Given the description of an element on the screen output the (x, y) to click on. 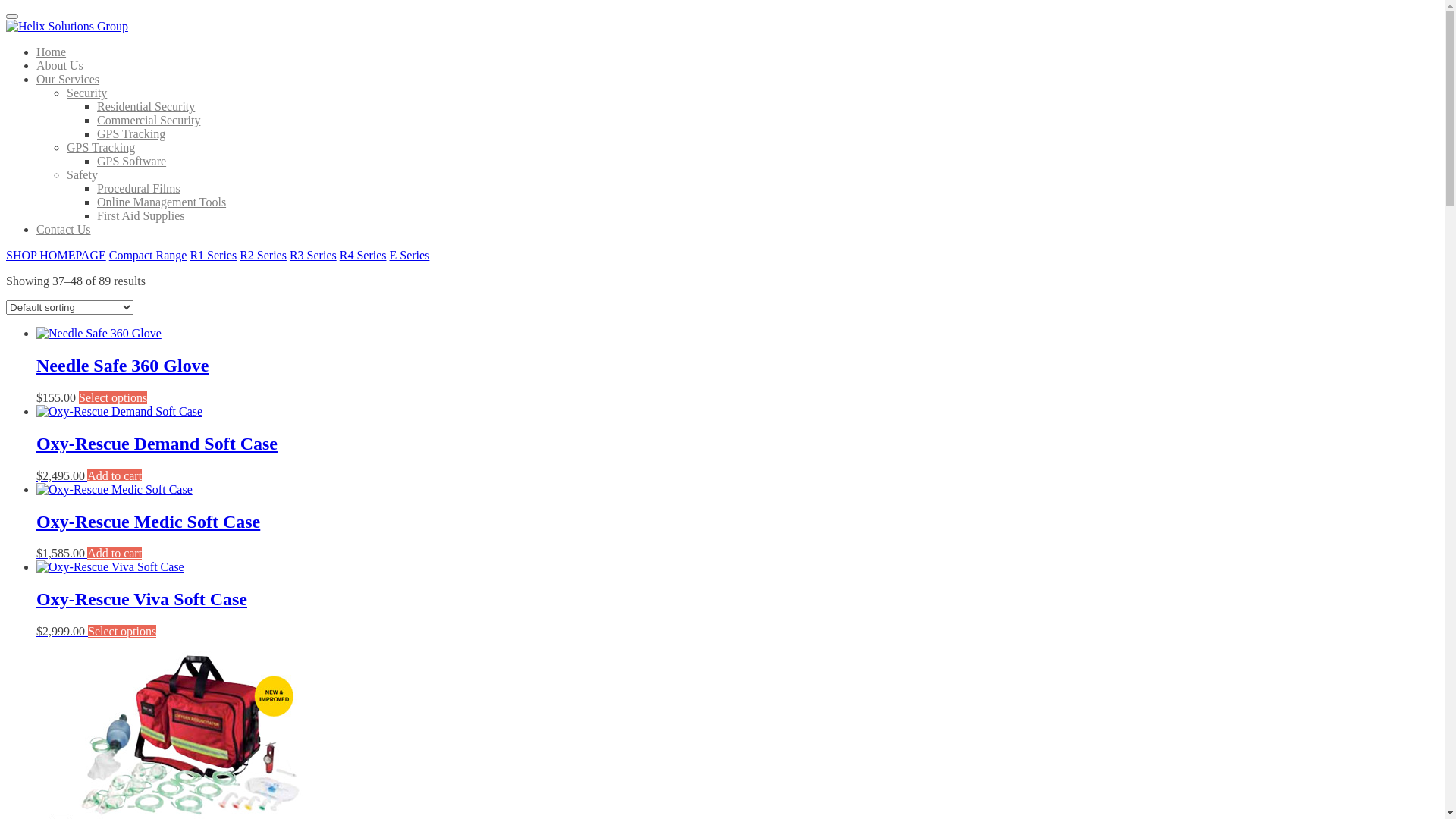
E Series Element type: text (409, 254)
Menu Element type: text (12, 16)
Procedural Films Element type: text (138, 188)
Needle Safe 360 Glove
$155.00 Element type: text (737, 365)
Online Management Tools Element type: text (161, 201)
R3 Series Element type: text (312, 254)
Security Element type: text (86, 92)
Select options Element type: text (121, 630)
About Us Element type: text (59, 65)
GPS Tracking Element type: text (100, 147)
Oxy-Rescue Medic Soft Case
$1,585.00 Element type: text (737, 521)
Add to cart Element type: text (114, 552)
R4 Series Element type: text (362, 254)
Oxy-Rescue Viva Soft Case Element type: hover (110, 567)
R1 Series Element type: text (212, 254)
Oxy-Rescue Viva Soft Case
$2,999.00 Element type: text (737, 598)
First Aid Supplies Element type: text (141, 215)
GPS Tracking Element type: text (131, 133)
Needle Safe 360 Glove Element type: hover (98, 333)
Home Element type: text (50, 51)
GPS Software Element type: text (131, 160)
Oxy-Rescue Demand Soft Case Element type: hover (119, 411)
Contact Us Element type: text (63, 228)
Select options Element type: text (112, 397)
Residential Security Element type: text (145, 106)
Oxy-Rescue Medic Soft Case Element type: hover (114, 489)
SHOP HOMEPAGE Element type: text (56, 254)
Safety Element type: text (81, 174)
R2 Series Element type: text (262, 254)
Commercial Security Element type: text (148, 119)
Our Services Element type: text (67, 78)
Add to cart Element type: text (114, 475)
Oxy-Rescue Demand Soft Case
$2,495.00 Element type: text (737, 443)
Compact Range Element type: text (148, 254)
